Given the description of an element on the screen output the (x, y) to click on. 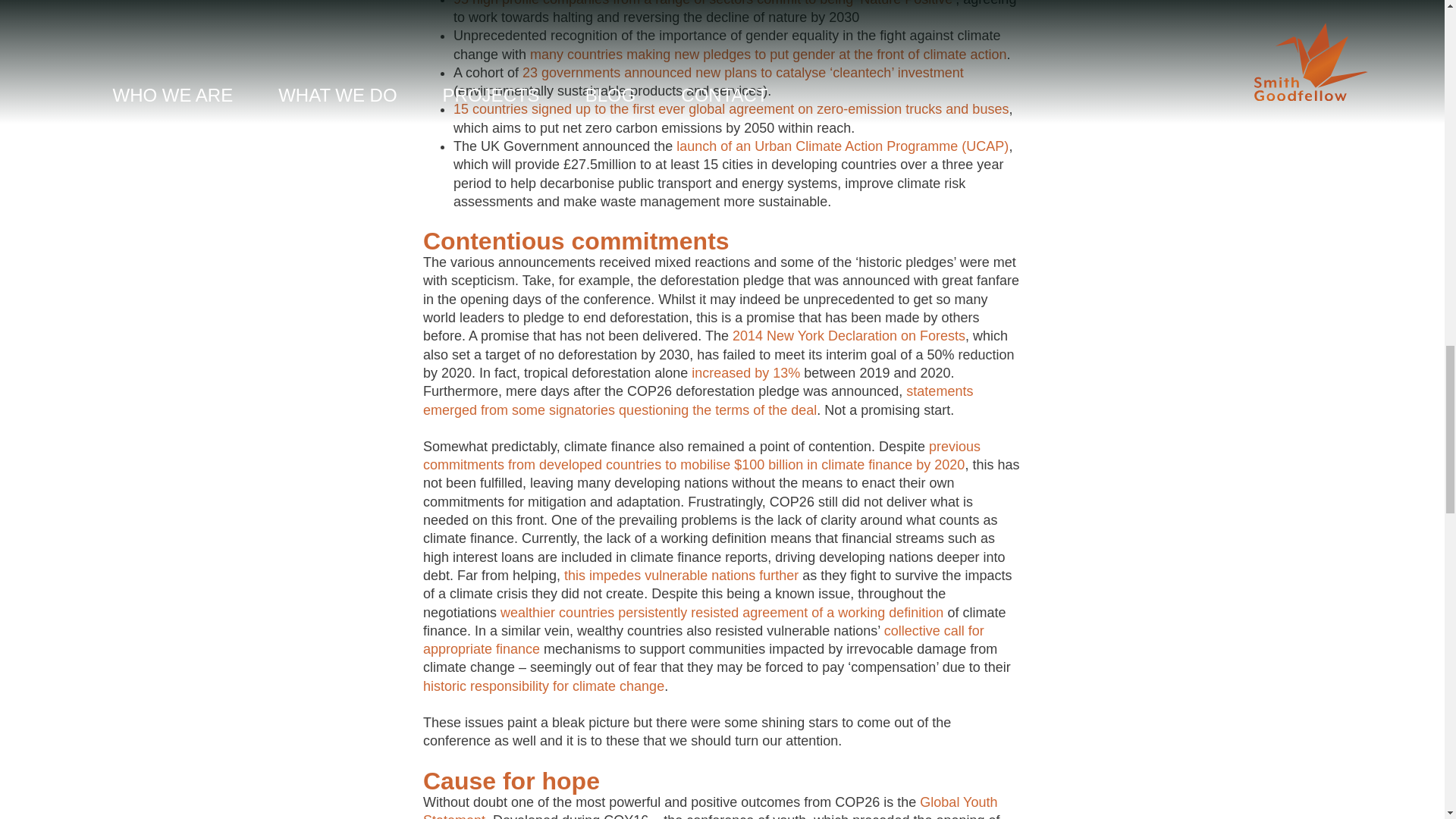
historic responsibility for climate change (543, 685)
2014 New York Declaration on Forests (848, 335)
collective call for appropriate finance (703, 639)
this impedes vulnerable nations further (680, 575)
